Given the description of an element on the screen output the (x, y) to click on. 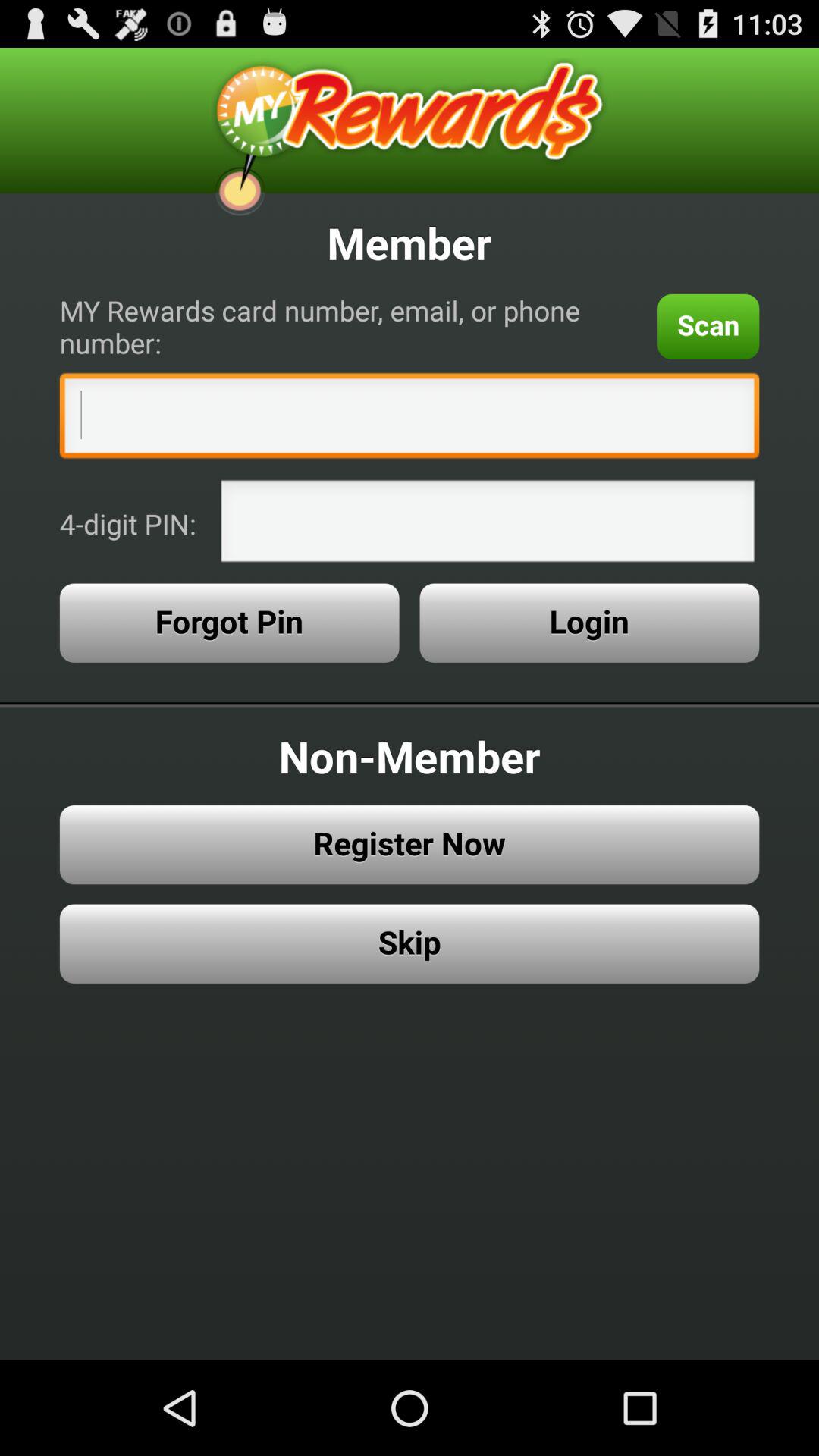
jump until the scan icon (708, 326)
